Given the description of an element on the screen output the (x, y) to click on. 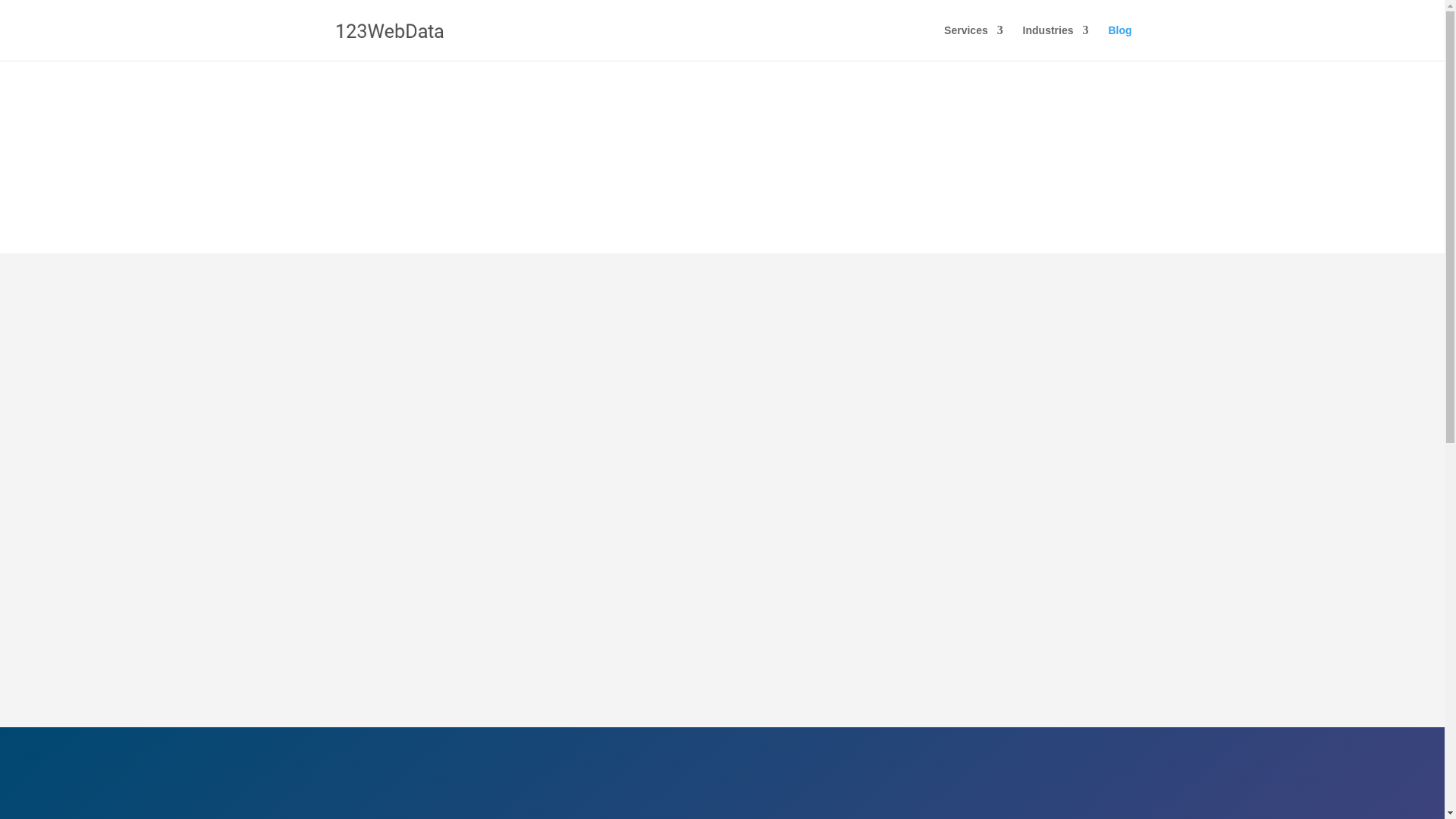
Blog (1119, 42)
Services (973, 42)
Industries (1056, 42)
